Given the description of an element on the screen output the (x, y) to click on. 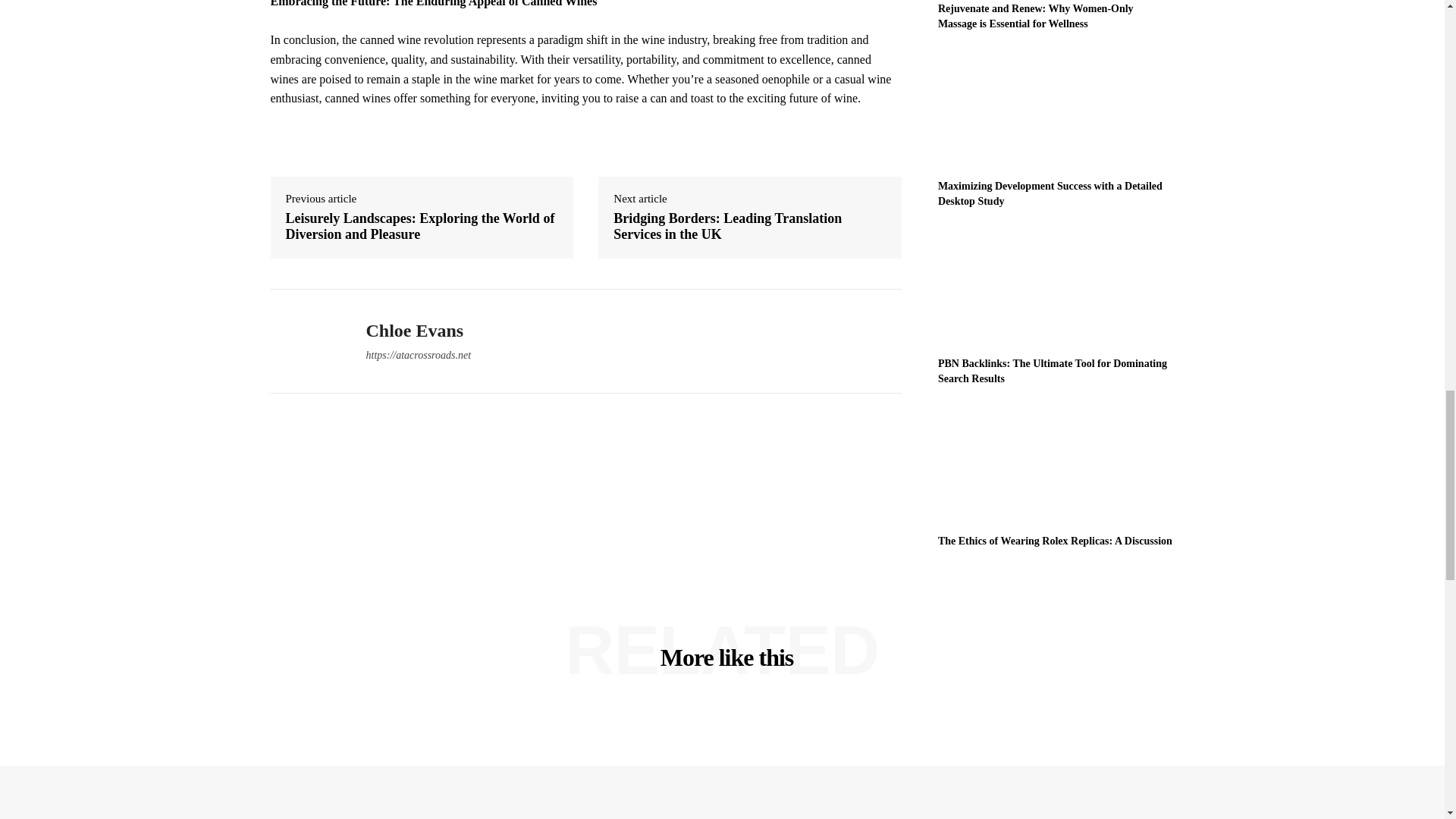
Bridging Borders: Leading Translation Services in the UK (749, 226)
Maximizing Development Success with a Detailed Desktop Study (1049, 193)
Maximizing Development Success with a Detailed Desktop Study (1055, 110)
Chloe Evans (417, 331)
Chloe Evans (305, 340)
